Given the description of an element on the screen output the (x, y) to click on. 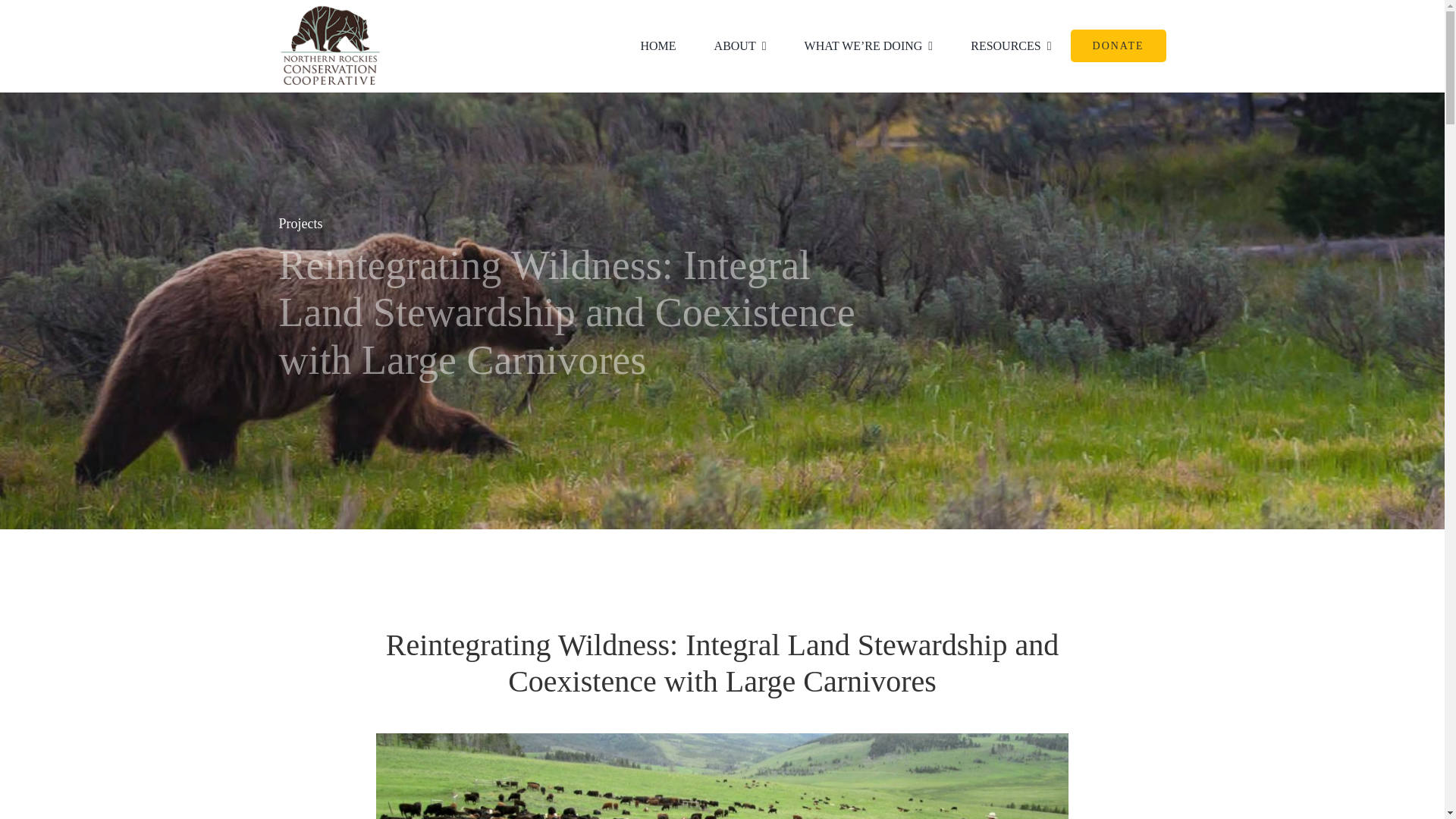
HOME (657, 46)
ABOUT (740, 46)
RESOURCES (1011, 46)
DONATE (1118, 46)
